Given the description of an element on the screen output the (x, y) to click on. 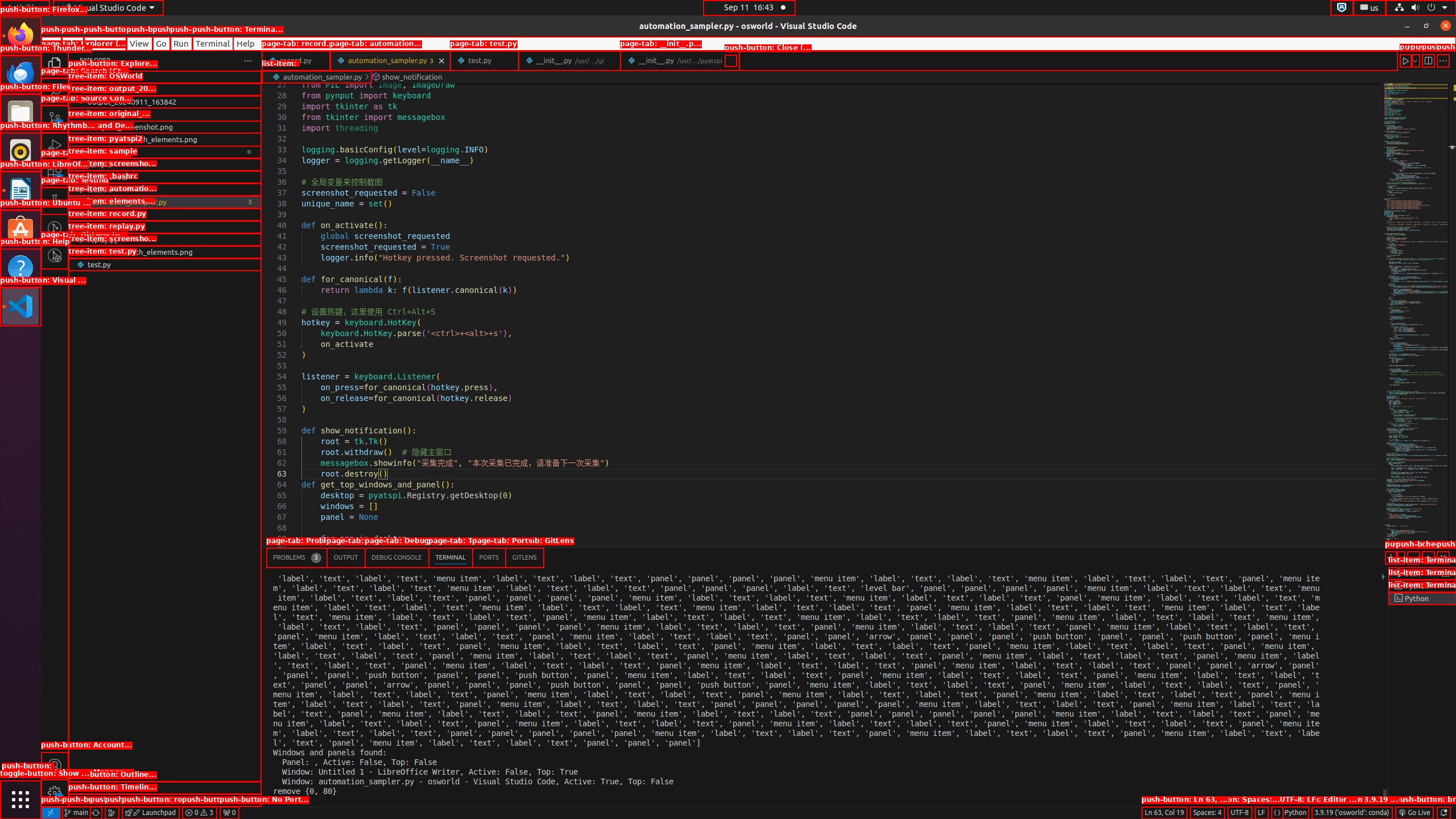
remote Element type: push-button (50, 812)
Run Element type: push-button (181, 43)
Firefox Web Browser Element type: push-button (20, 35)
__init__.py Element type: page-tab (679, 60)
GitLens Element type: page-tab (524, 557)
